Given the description of an element on the screen output the (x, y) to click on. 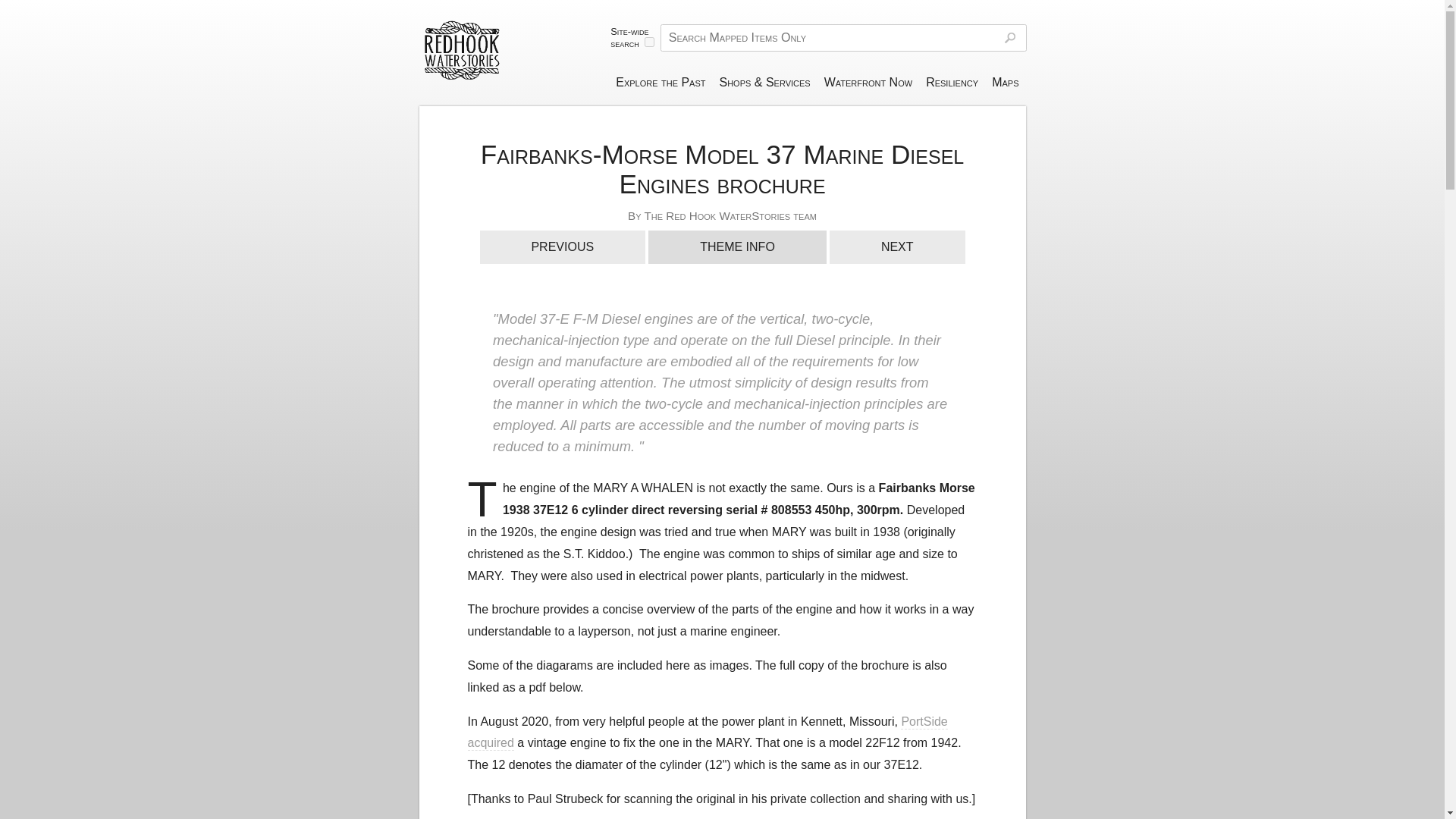
Explore the Past (659, 81)
View Theme: The Mary A Whalen (737, 246)
Waterfront Now (867, 81)
Previous stop on Theme (562, 246)
1 (649, 41)
Next stop on Theme (897, 246)
